Given the description of an element on the screen output the (x, y) to click on. 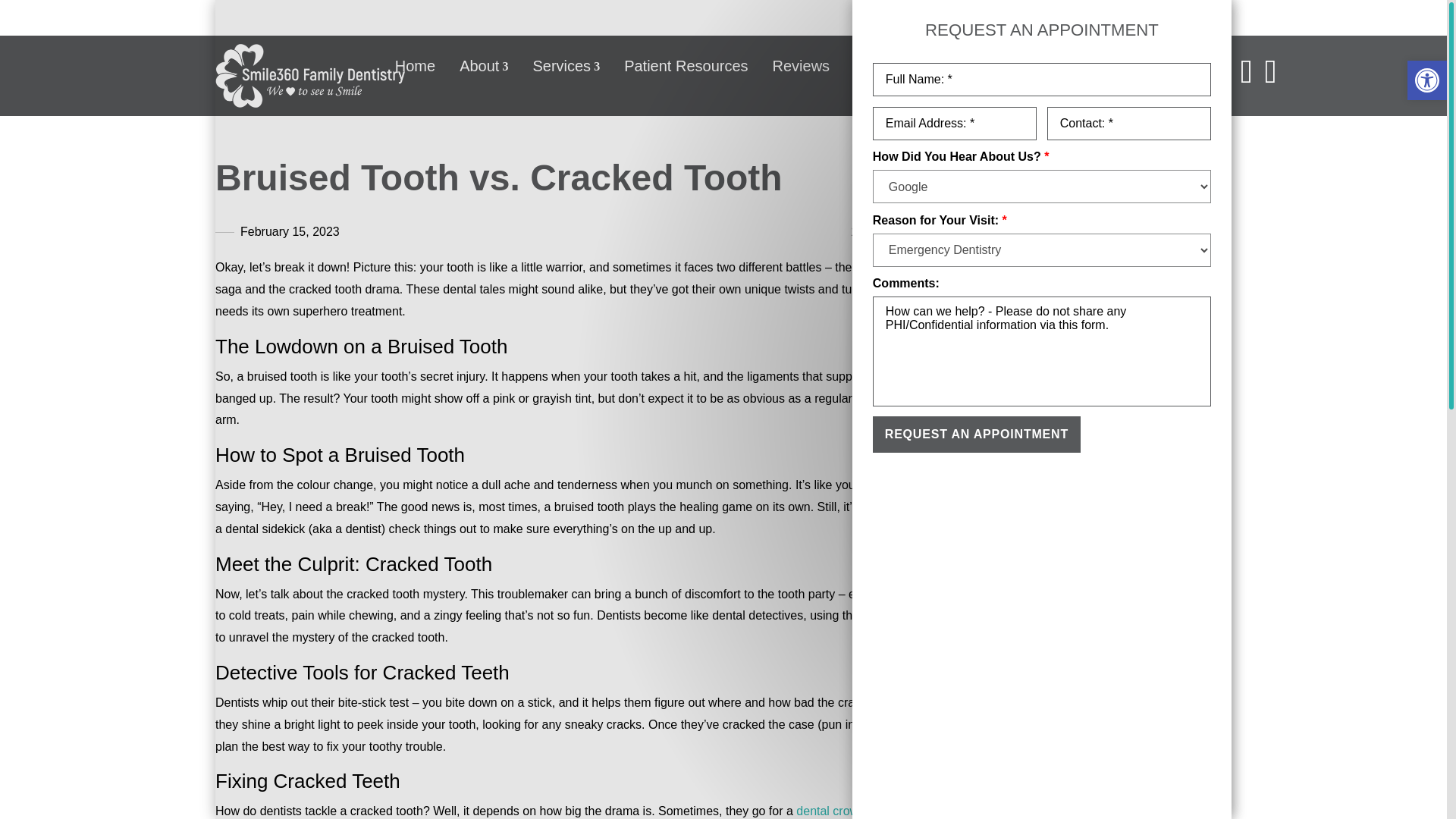
Accessibility Tools (1427, 79)
Gallery (877, 66)
dental crown (830, 810)
Request An Appointment (976, 434)
Blog (1099, 66)
Search (1192, 172)
Contact (1033, 66)
Patient Resources (686, 66)
Reviews (801, 66)
Accessibility Tools (1427, 79)
